Given the description of an element on the screen output the (x, y) to click on. 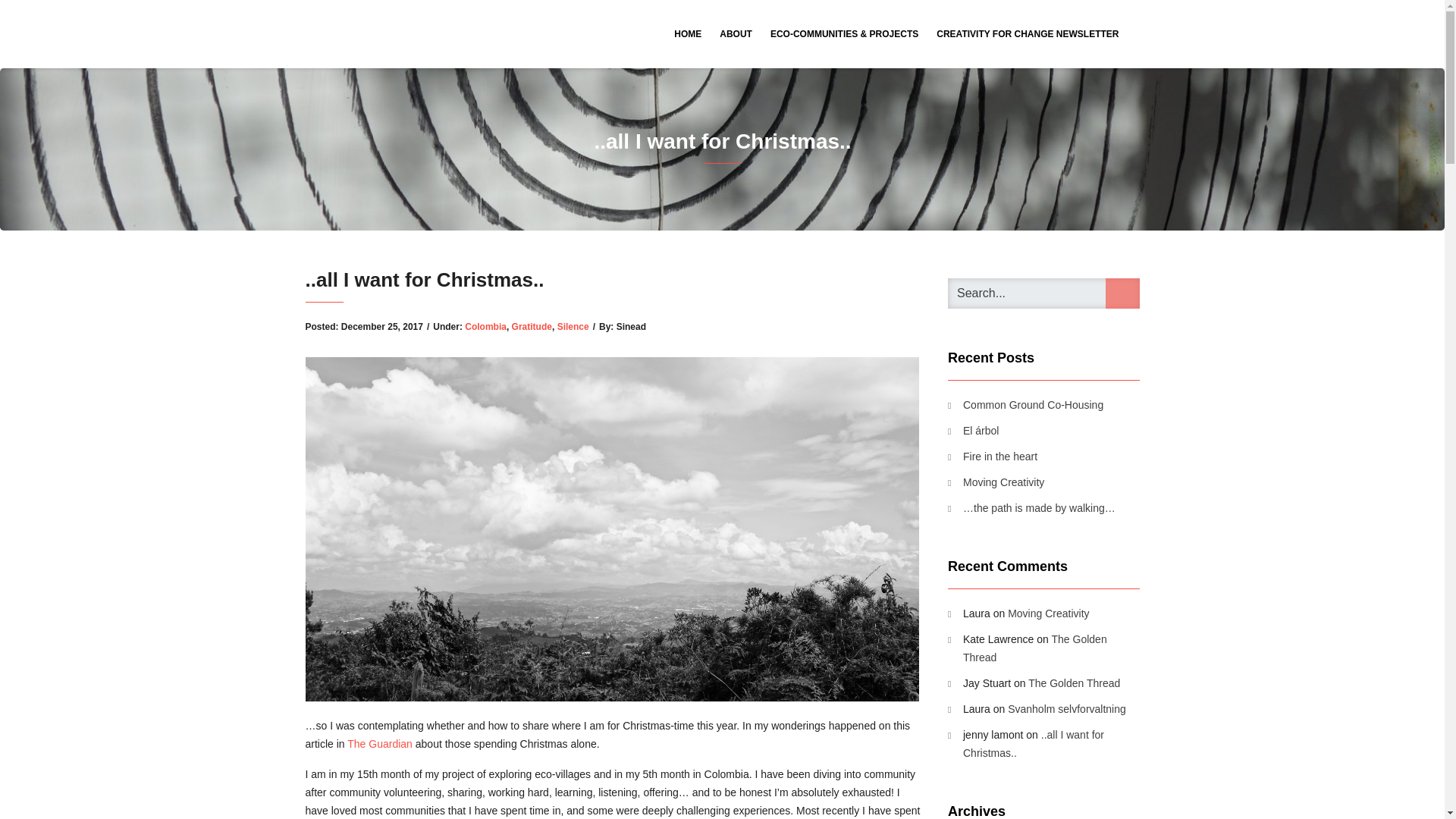
Moving Creativity (1048, 613)
Fire in the heart (991, 456)
ABOUT (735, 33)
The Golden Thread (1034, 648)
Colombia (485, 326)
Silence (573, 326)
The Golden Thread (1073, 683)
Common Ground Co-Housing (1025, 404)
Svanholm selvforvaltning (1066, 708)
Search for: (1043, 293)
..all I want for Christmas.. (1032, 743)
CREATIVITY FOR CHANGE NEWSLETTER (1026, 33)
Gratitude (531, 326)
The Guardian (379, 743)
HOME (687, 33)
